Given the description of an element on the screen output the (x, y) to click on. 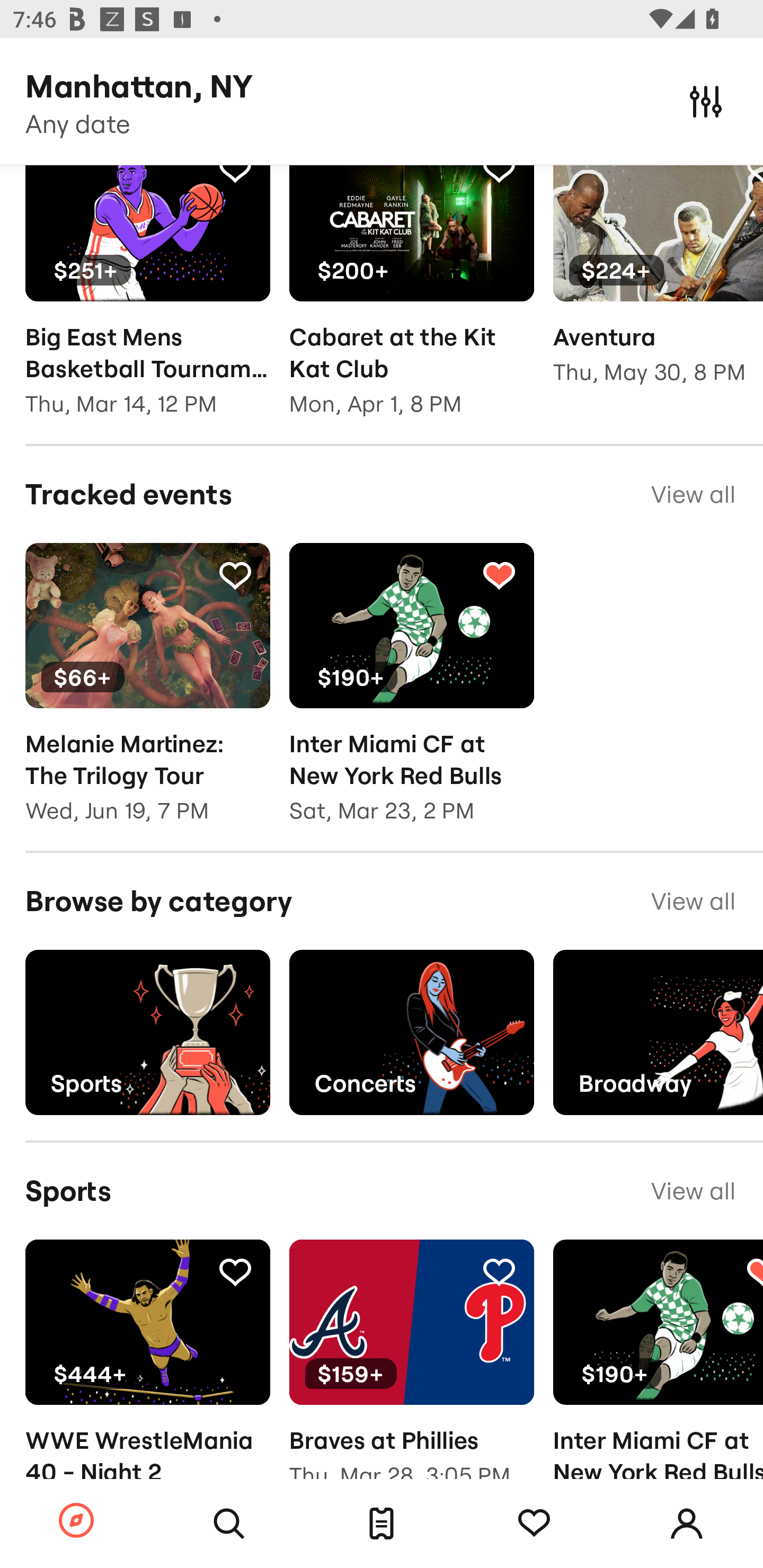
Close (705, 100)
Tracking (234, 175)
Tracking (498, 175)
Tracking $224+ Aventura Thu, May 30, 8 PM (658, 287)
View all (693, 493)
Tracking (234, 574)
Tracking (498, 574)
View all (693, 901)
Sports (147, 1032)
Concerts (411, 1032)
Broadway (658, 1032)
View all (693, 1191)
Tracking (234, 1271)
Tracking (498, 1271)
Browse (76, 1521)
Search (228, 1523)
Tickets (381, 1523)
Tracking (533, 1523)
Account (686, 1523)
